Given the description of an element on the screen output the (x, y) to click on. 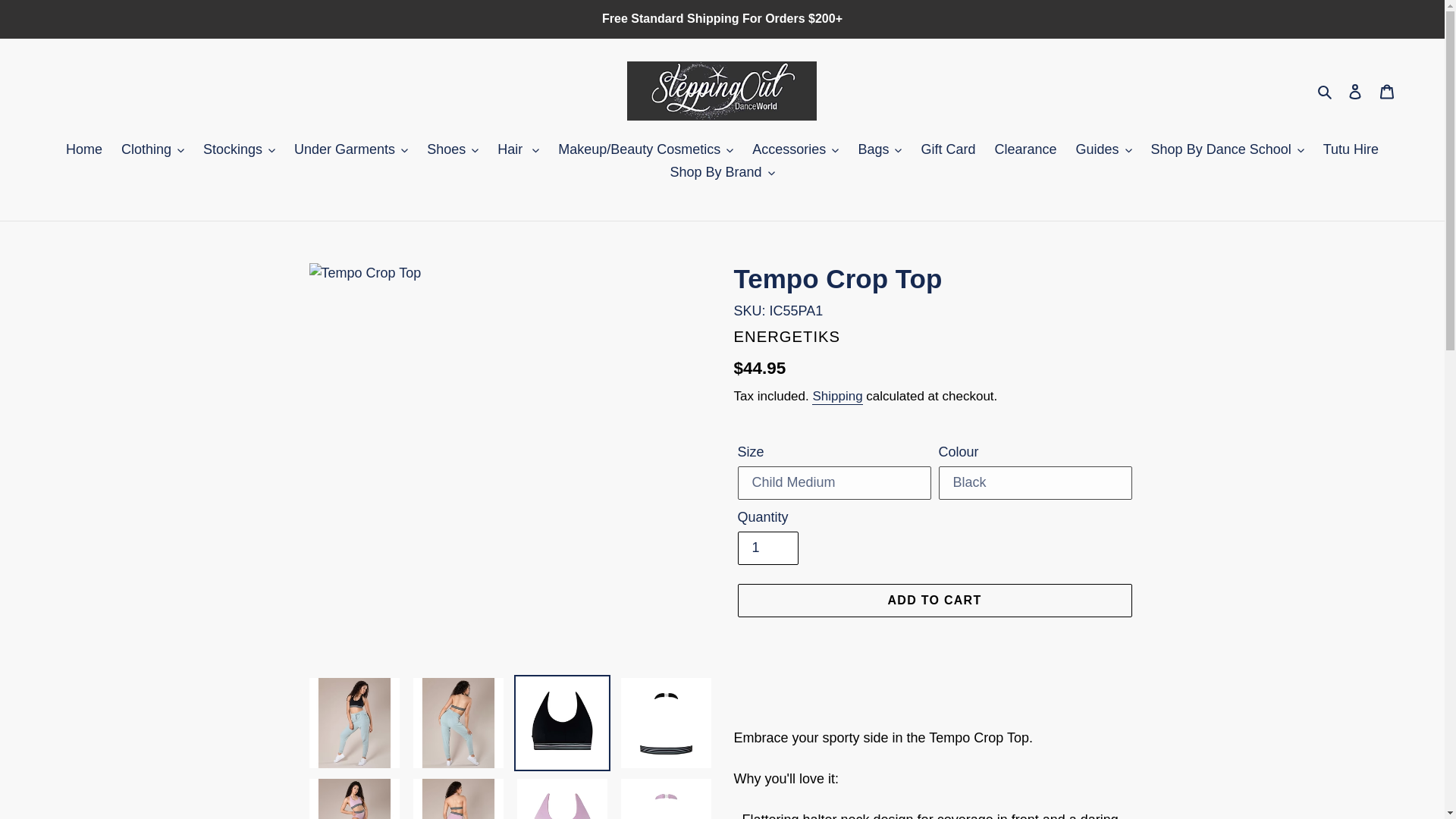
Cart (1387, 90)
1 (766, 548)
Log in (1355, 90)
Search (1326, 91)
